Given the description of an element on the screen output the (x, y) to click on. 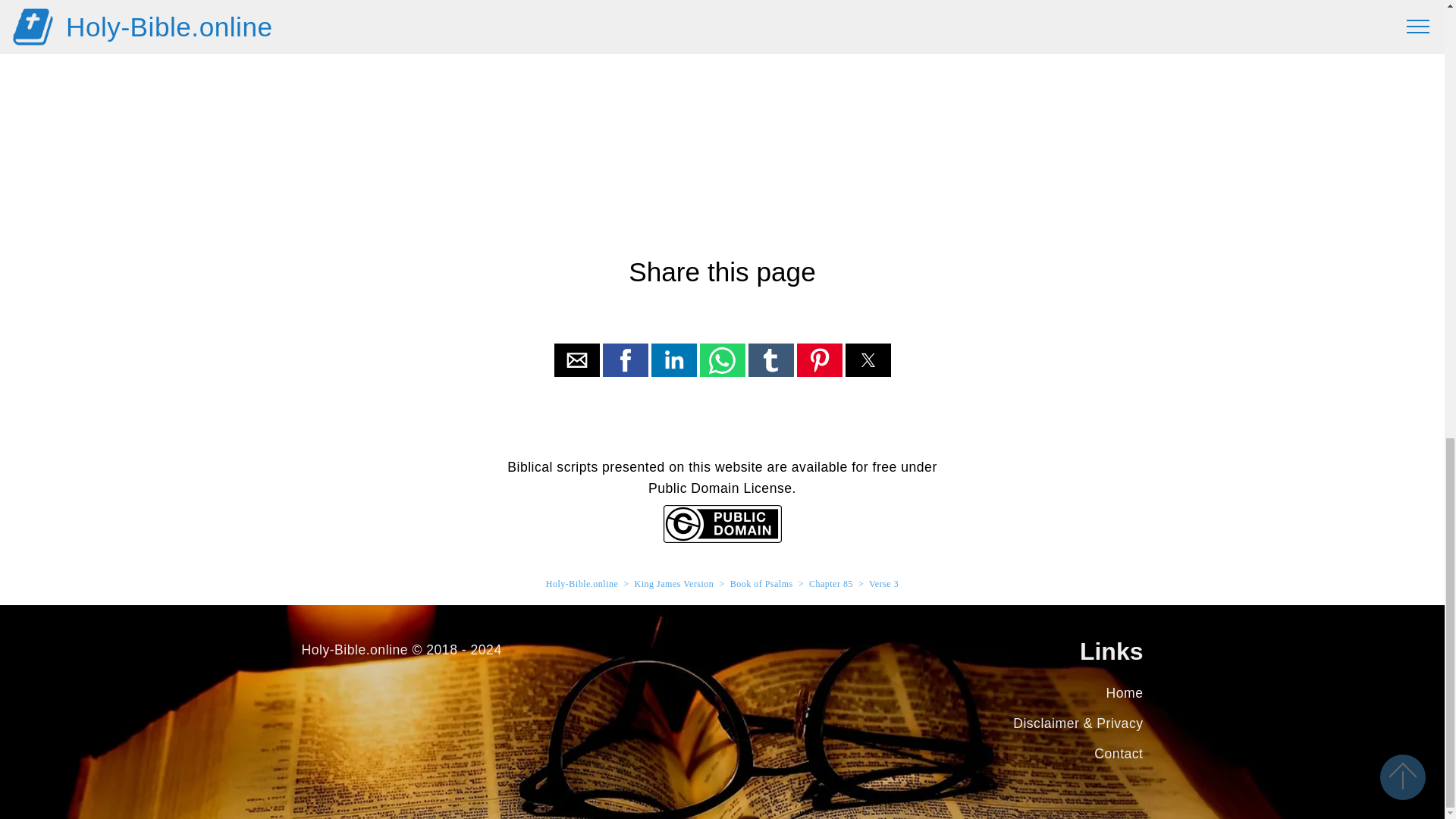
Home (1124, 693)
Contact (1118, 753)
Verse 3 (883, 583)
King James Version (674, 583)
Click to read more about Public Domain in Wikipedia (721, 538)
Chapter 85 (831, 583)
Holy-Bible.online (582, 583)
Book of Psalms (761, 583)
